Given the description of an element on the screen output the (x, y) to click on. 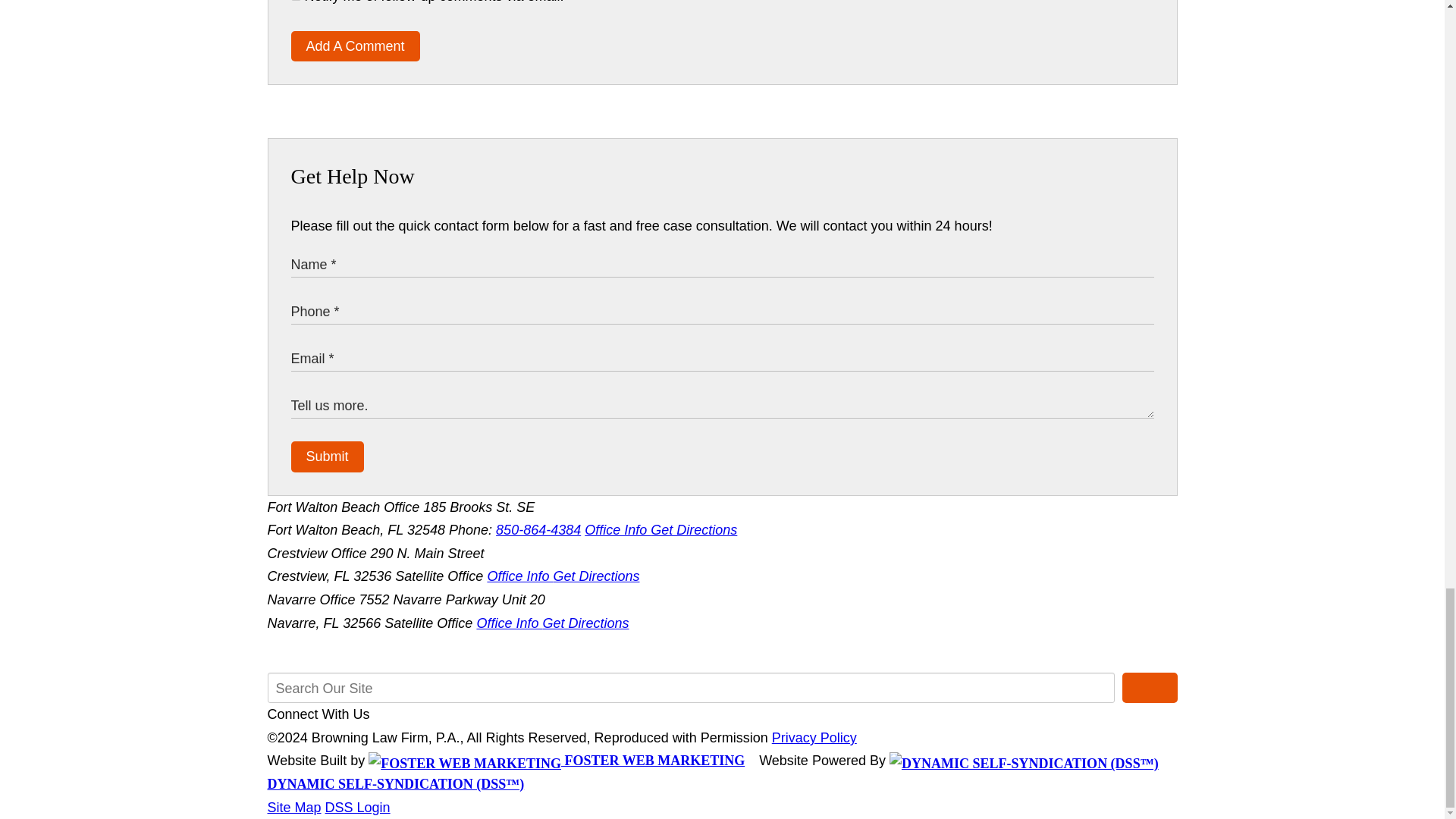
Search (1149, 687)
